Given the description of an element on the screen output the (x, y) to click on. 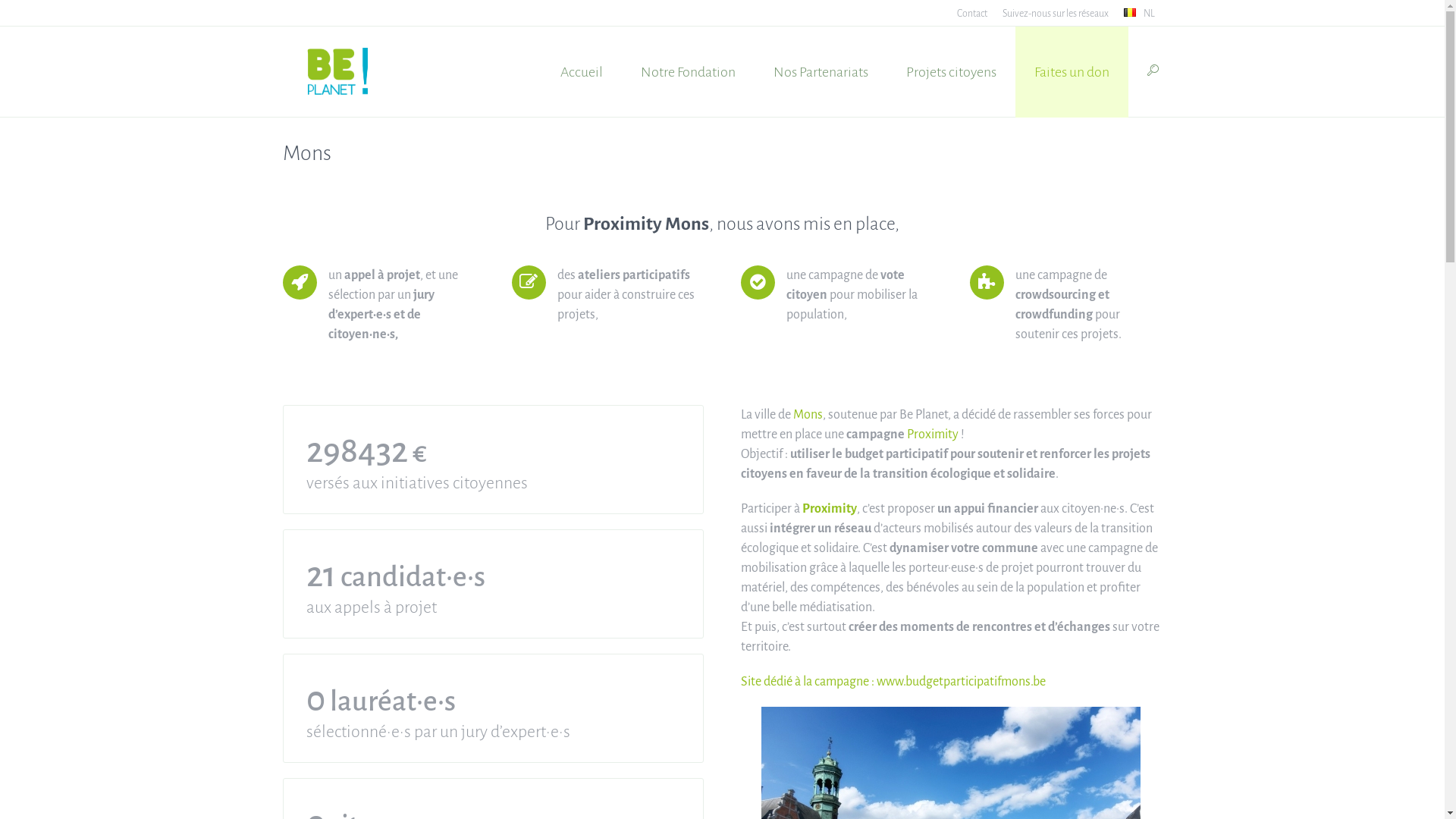
www.beplanet.org/mons Element type: text (1032, 332)
